Given the description of an element on the screen output the (x, y) to click on. 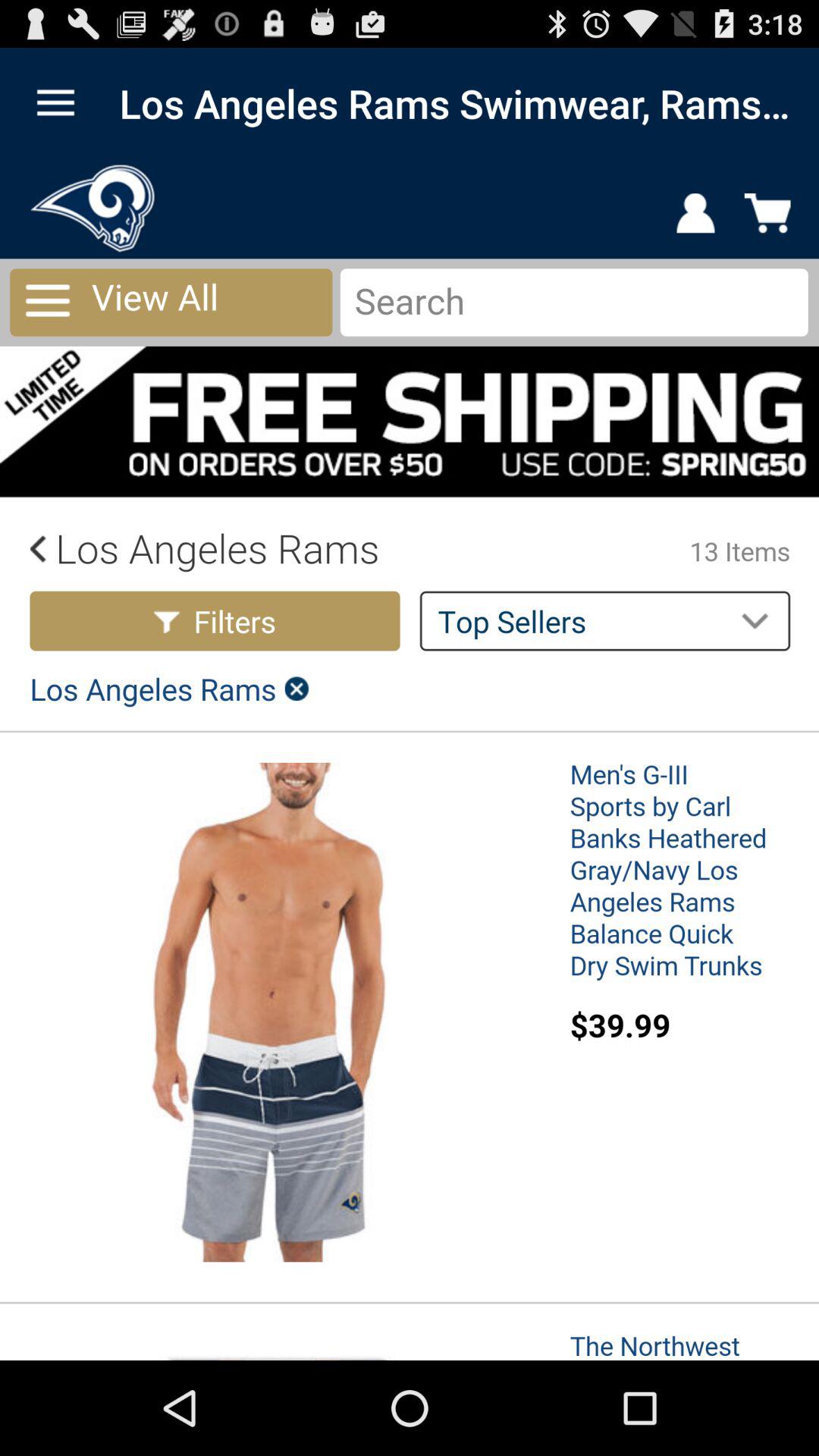
go to customize (55, 103)
